Given the description of an element on the screen output the (x, y) to click on. 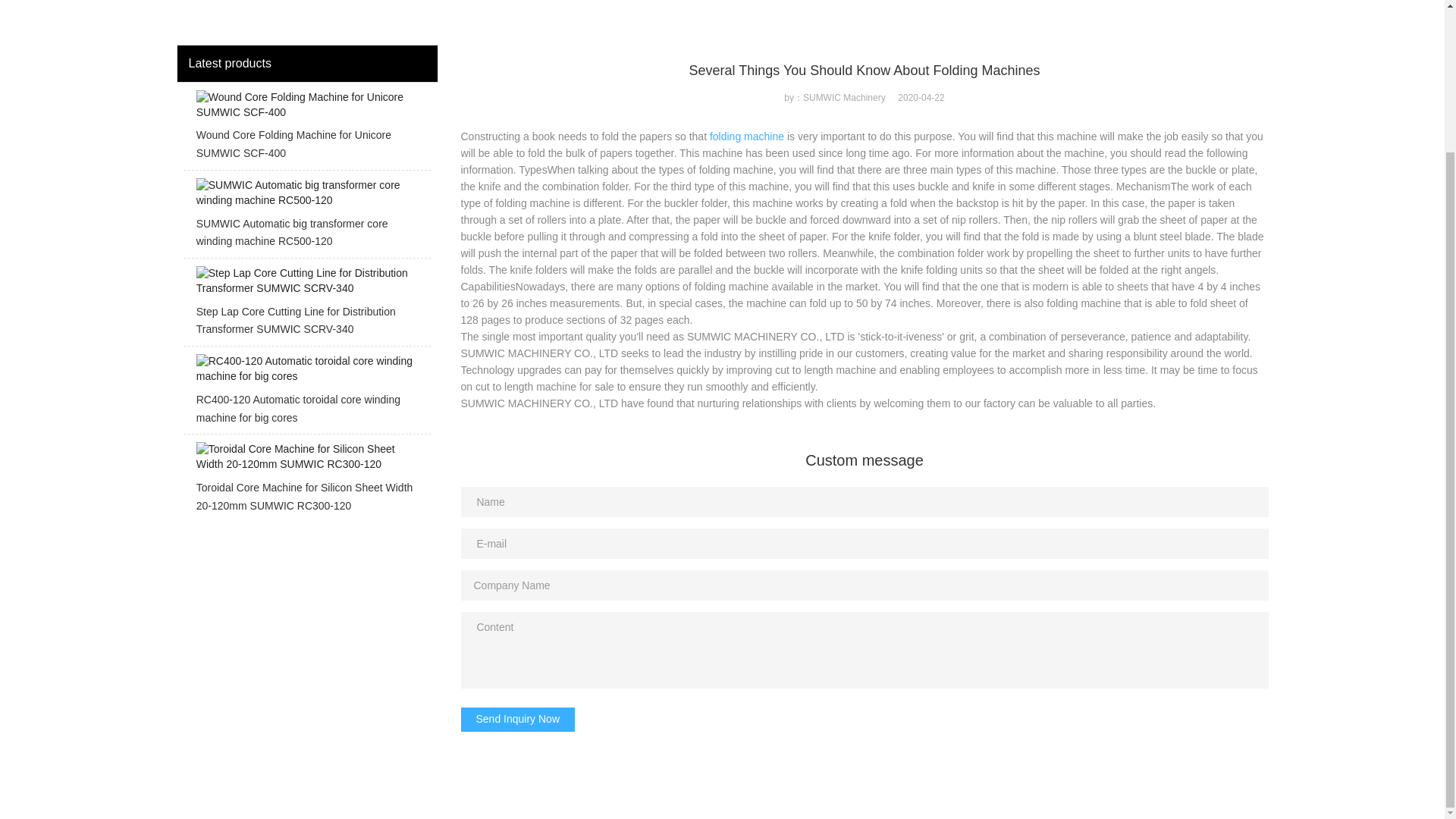
Send Inquiry Now (518, 719)
folding machine (747, 136)
Wound Core Folding Machine for Unicore SUMWIC SCF-400 (306, 129)
